Given the description of an element on the screen output the (x, y) to click on. 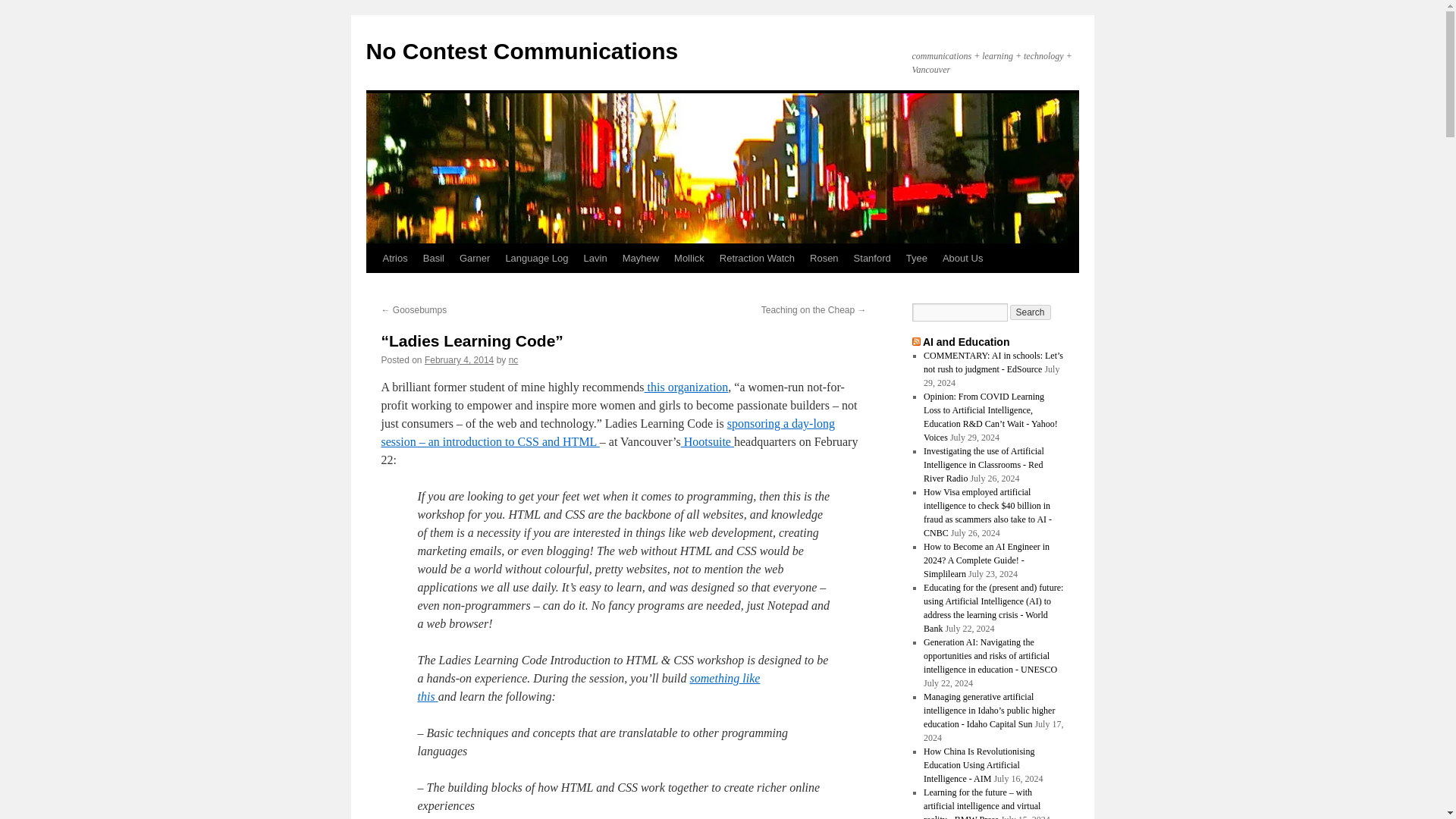
Lavin (595, 258)
something like this  (588, 686)
No Contest Communications (521, 50)
Basil (432, 258)
Rosen (823, 258)
Retraction Watch (756, 258)
Garner (474, 258)
Ladies Learning Code (687, 386)
AI and Education (966, 341)
Tyee (916, 258)
About Us (962, 258)
Stanford (871, 258)
Search (1030, 312)
Hootsuite (707, 440)
